Given the description of an element on the screen output the (x, y) to click on. 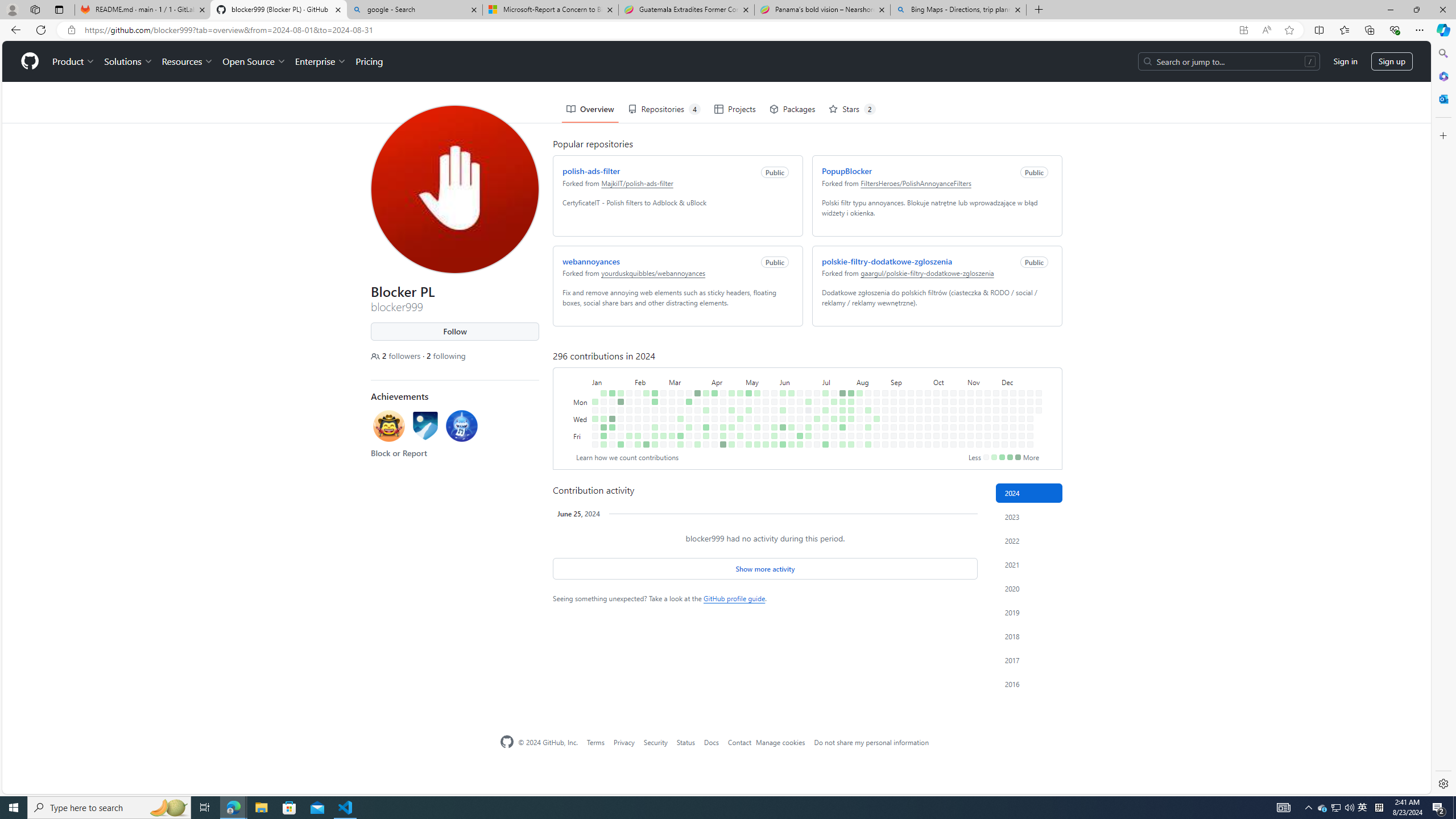
Enterprise (318, 20)
No contributions on May 8th. (746, 377)
No contributions on May 26th. (771, 351)
4 contributions on January 27th. (620, 444)
No contributions on September 2nd. (890, 360)
No contributions on February 8th. (635, 386)
No contributions on January 16th. (609, 369)
No contributions on September 9th. (899, 360)
